Given the description of an element on the screen output the (x, y) to click on. 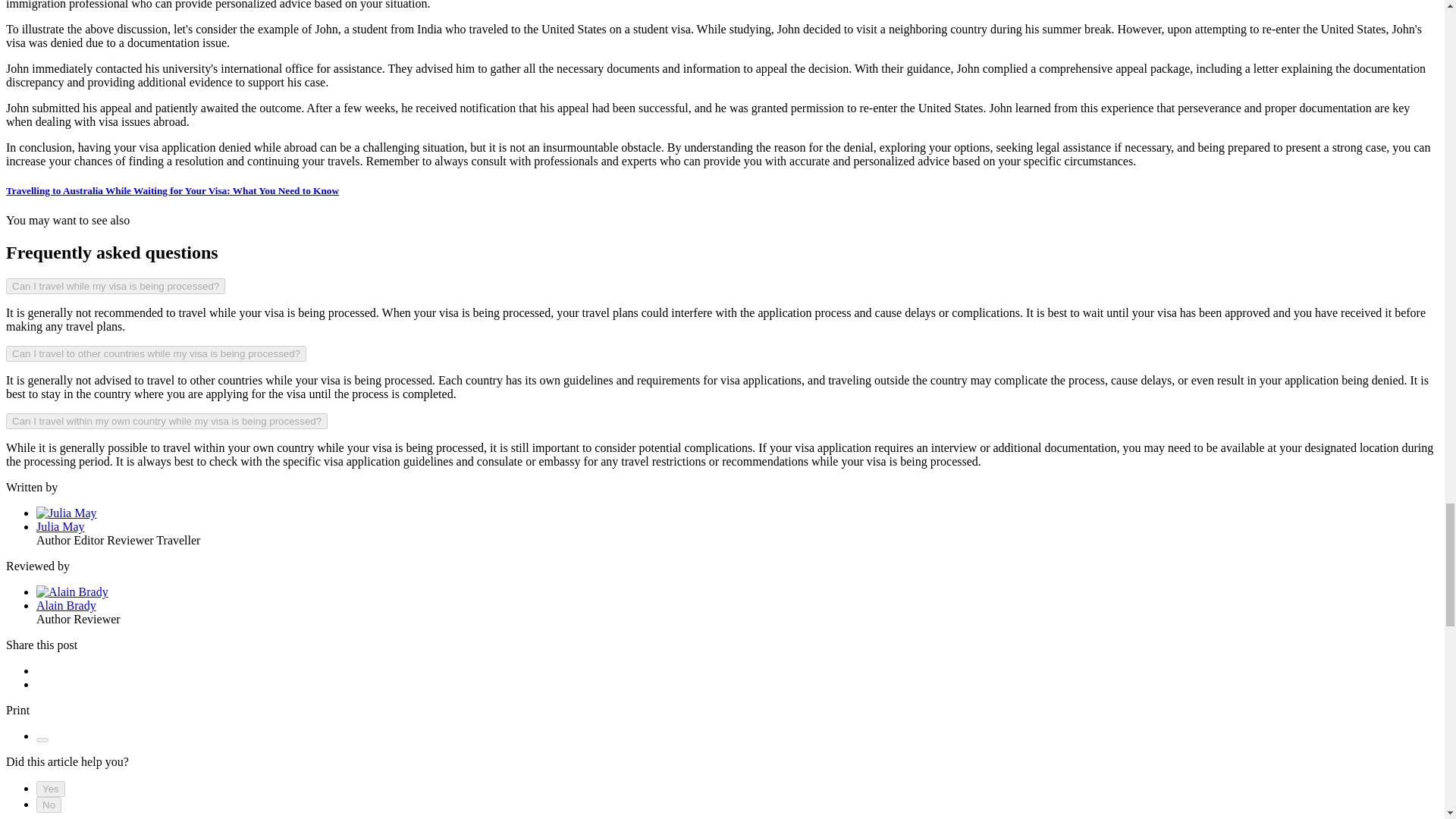
Julia May (60, 526)
Can I travel while my visa is being processed? (115, 286)
